Given the description of an element on the screen output the (x, y) to click on. 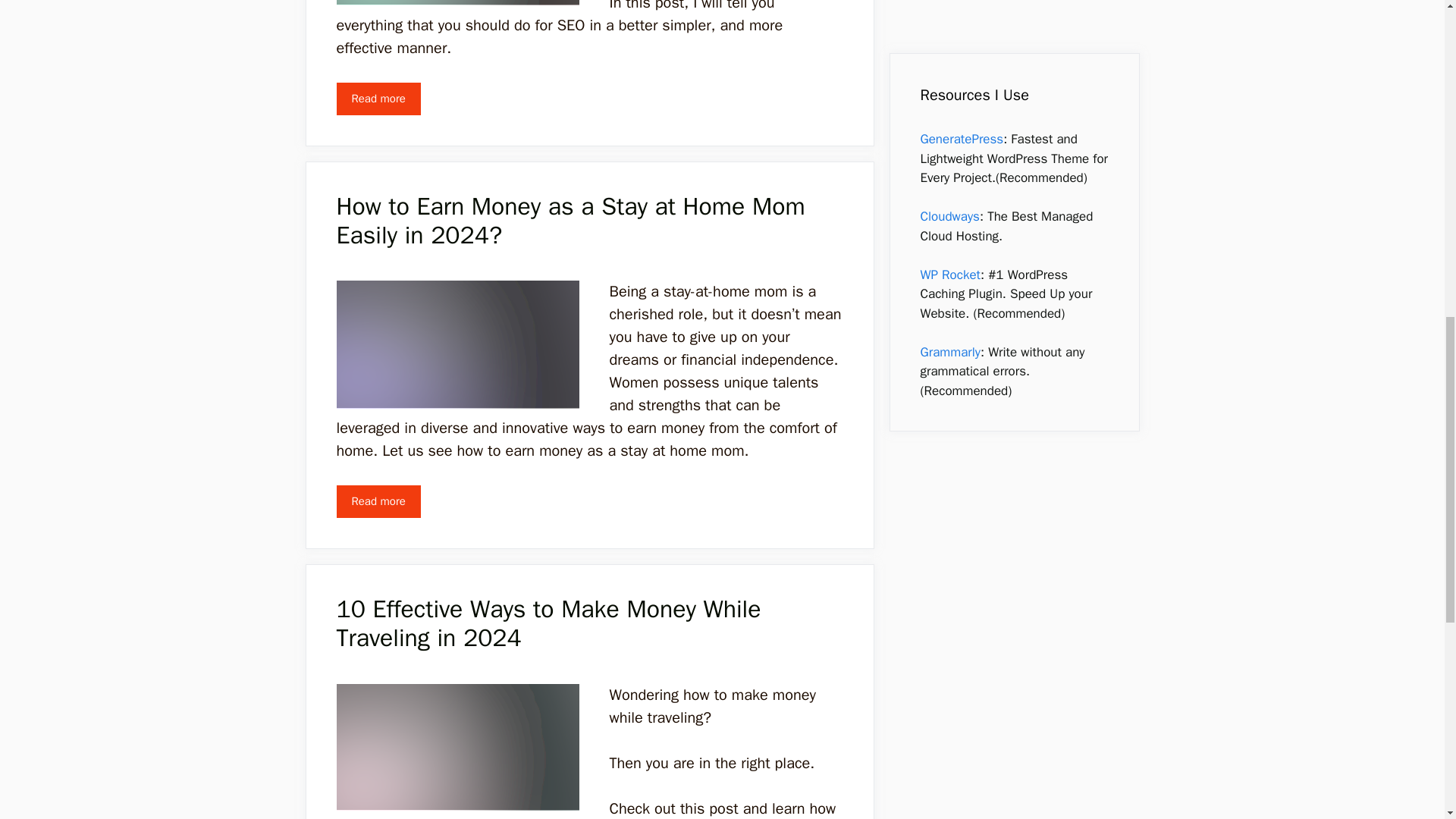
Grammarly (949, 0)
Read more (378, 501)
How to Earn Money as a Stay at Home Mom Easily in 2024? (570, 220)
How to Earn Money as a Stay at Home Mom Easily in 2024? (378, 501)
10 Effective Ways to Make Money While Traveling in 2024 (548, 623)
How to Write SEO Friendly Article Easily in 2024? (378, 98)
Scroll back to top (1406, 720)
Read more (378, 98)
